Given the description of an element on the screen output the (x, y) to click on. 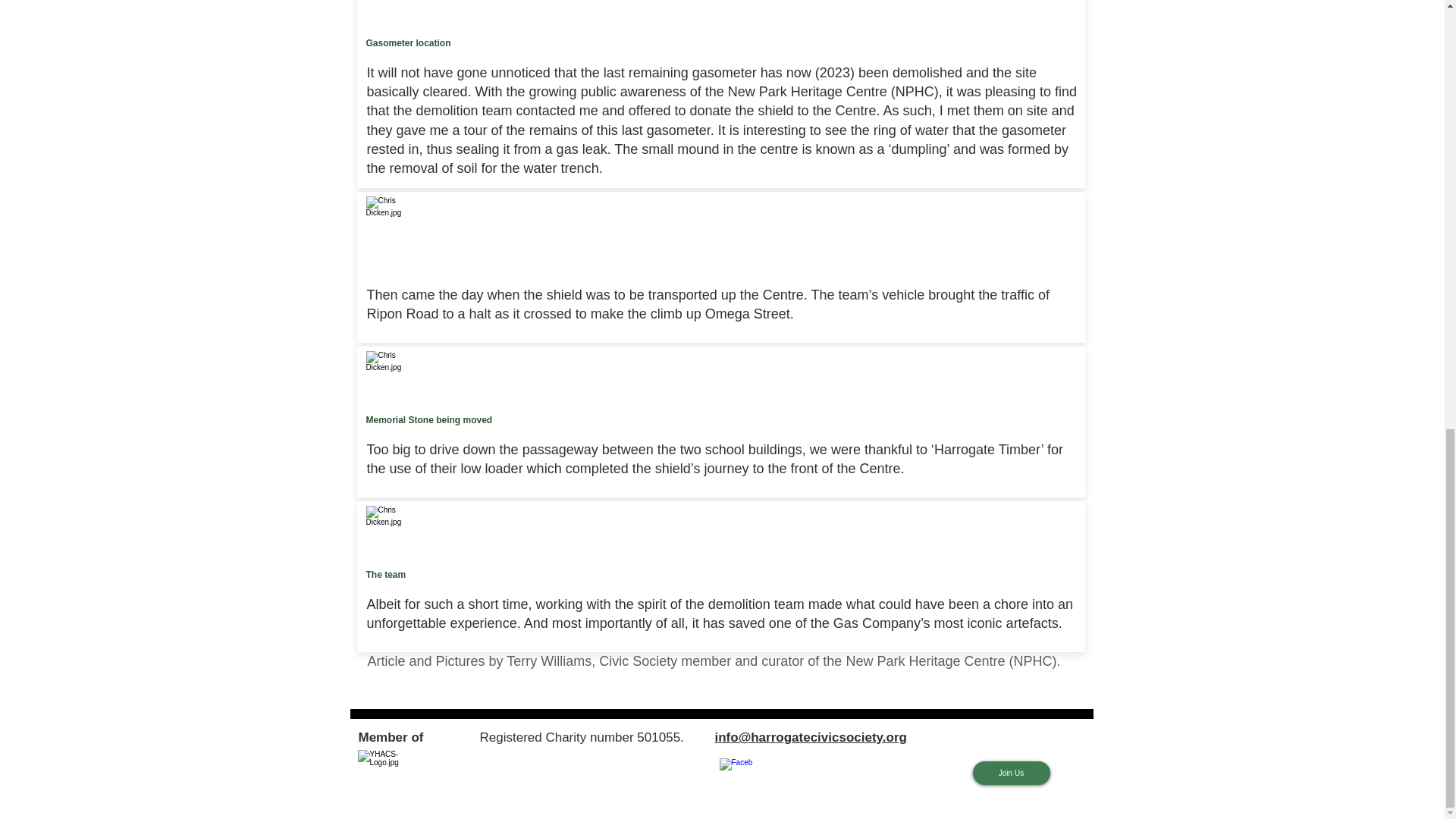
007 web.jpg (386, 526)
006 web.jpg (386, 372)
Join Us (1010, 772)
004 web.jpg (386, 7)
005 web.jpg (386, 217)
